Given the description of an element on the screen output the (x, y) to click on. 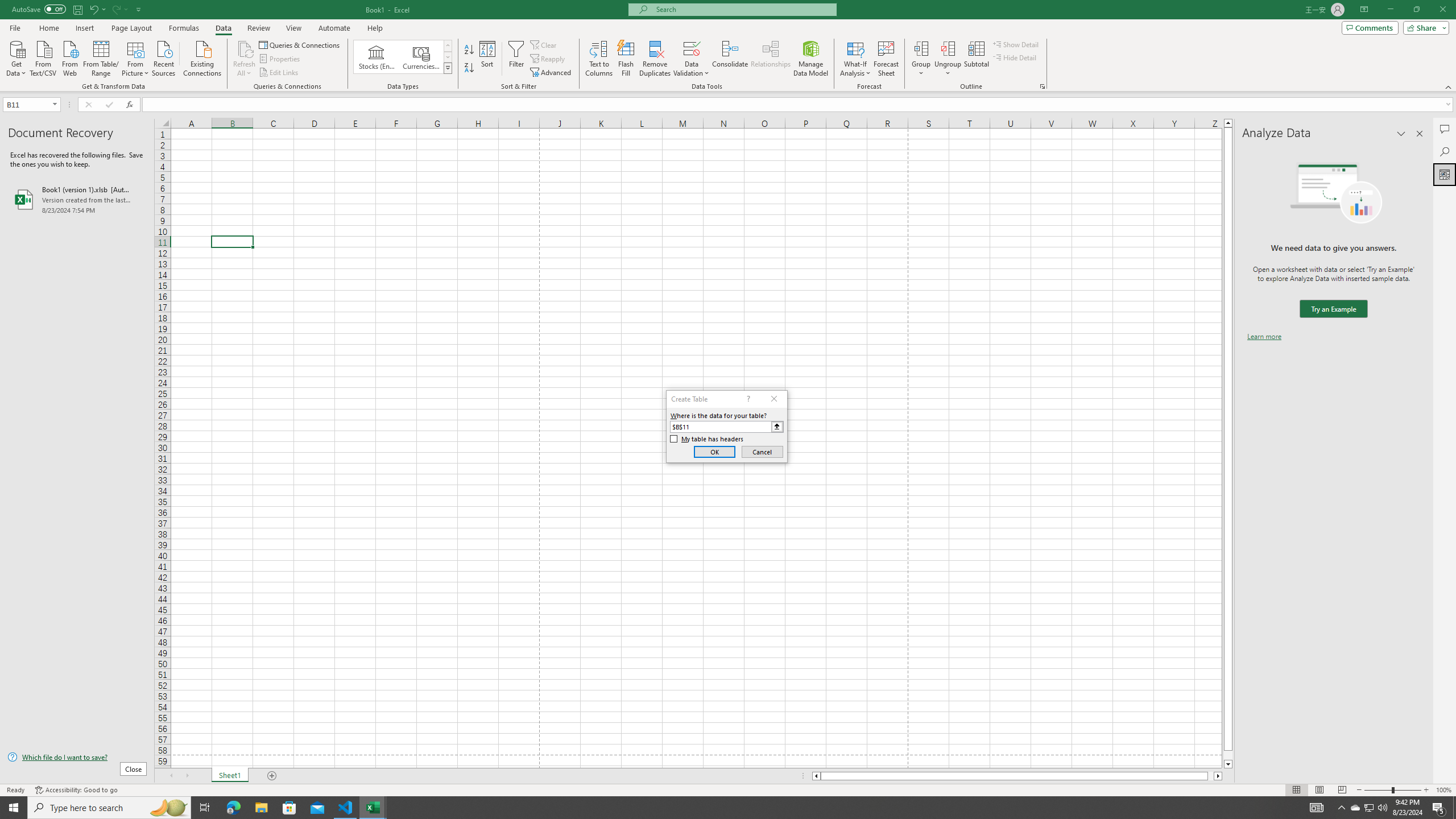
Ungroup... (947, 58)
Stocks (English) (375, 56)
Ungroup... (947, 48)
Learn more (1264, 336)
Refresh All (244, 58)
Column left (815, 775)
Manage Data Model (810, 58)
Reapply (548, 58)
Search (1444, 151)
Edit Links (279, 72)
